Given the description of an element on the screen output the (x, y) to click on. 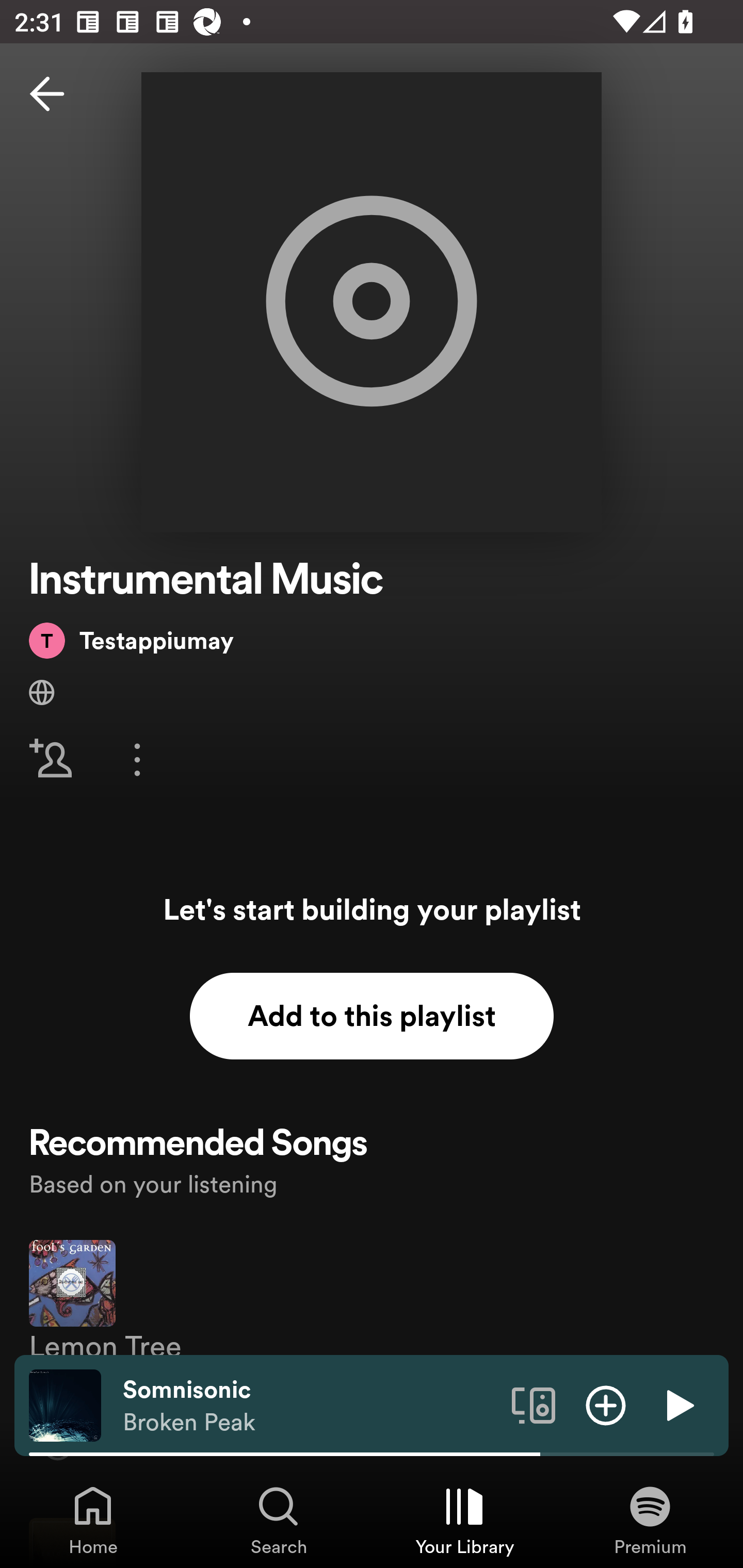
Back (46, 93)
Testappiumay (131, 640)
Invite Friends for playlist (50, 759)
More options for playlist Instrumental Music (136, 759)
Add to this playlist (371, 1015)
Somnisonic Broken Peak (309, 1405)
The cover art of the currently playing track (64, 1404)
Connect to a device. Opens the devices menu (533, 1404)
Add item (605, 1404)
Play (677, 1404)
Home, Tab 1 of 4 Home Home (92, 1519)
Search, Tab 2 of 4 Search Search (278, 1519)
Your Library, Tab 3 of 4 Your Library Your Library (464, 1519)
Premium, Tab 4 of 4 Premium Premium (650, 1519)
